Given the description of an element on the screen output the (x, y) to click on. 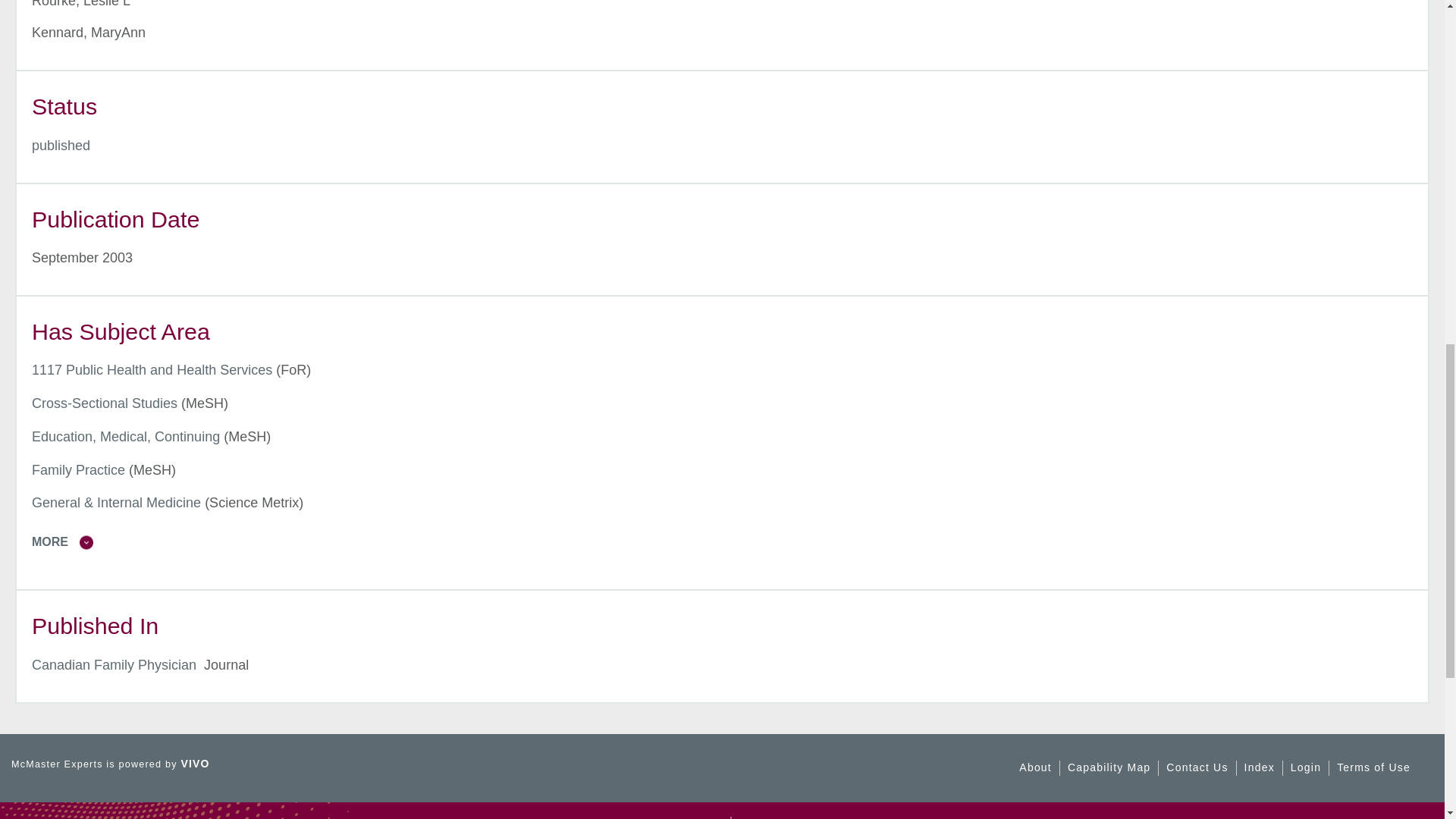
concept name (152, 369)
concept name (116, 502)
concept name (78, 469)
concept name (104, 403)
concept name (125, 436)
name (61, 145)
